Given the description of an element on the screen output the (x, y) to click on. 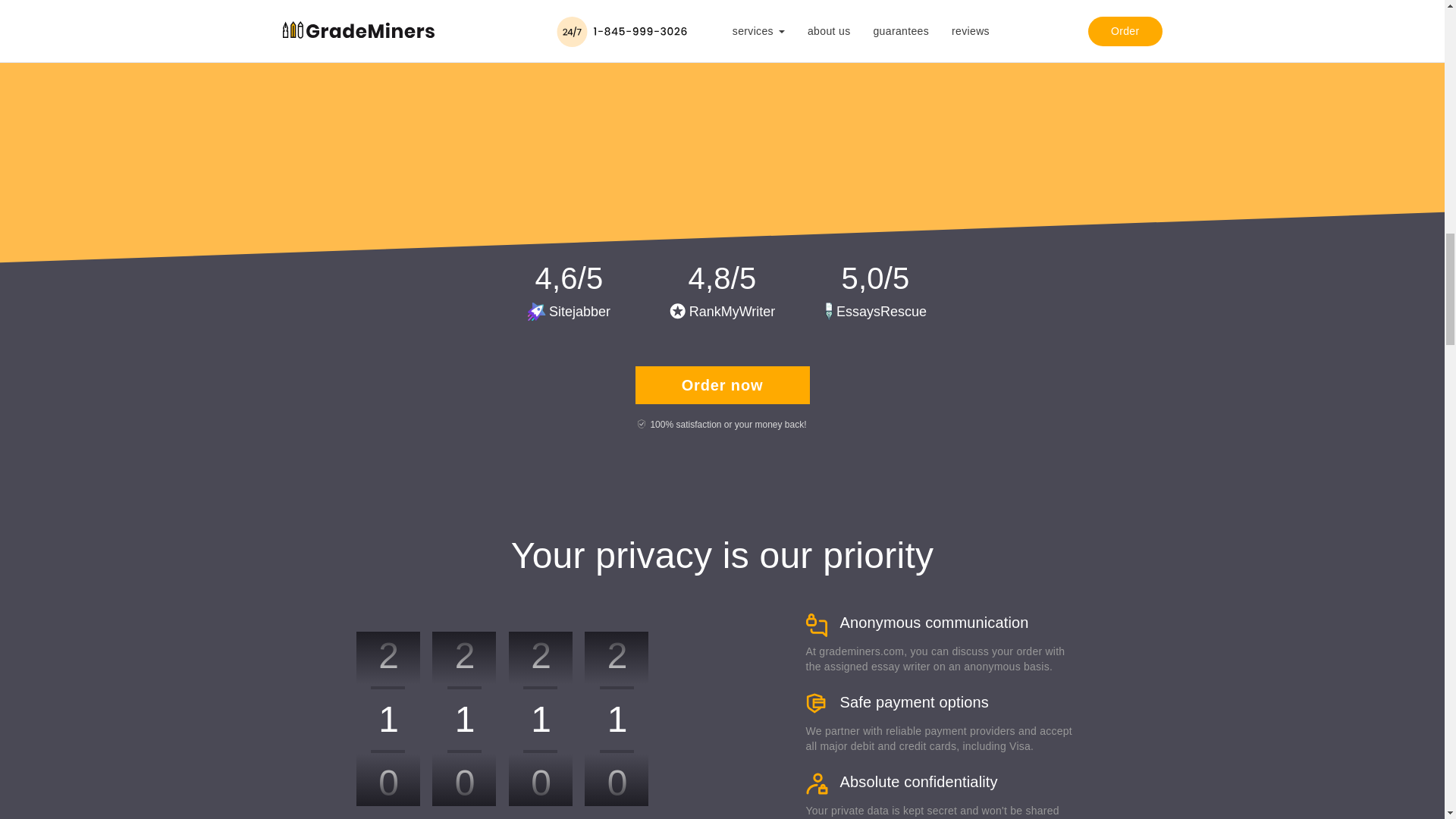
EssaysRescue (875, 311)
Order now (721, 385)
RankMyWriter (722, 311)
